Given the description of an element on the screen output the (x, y) to click on. 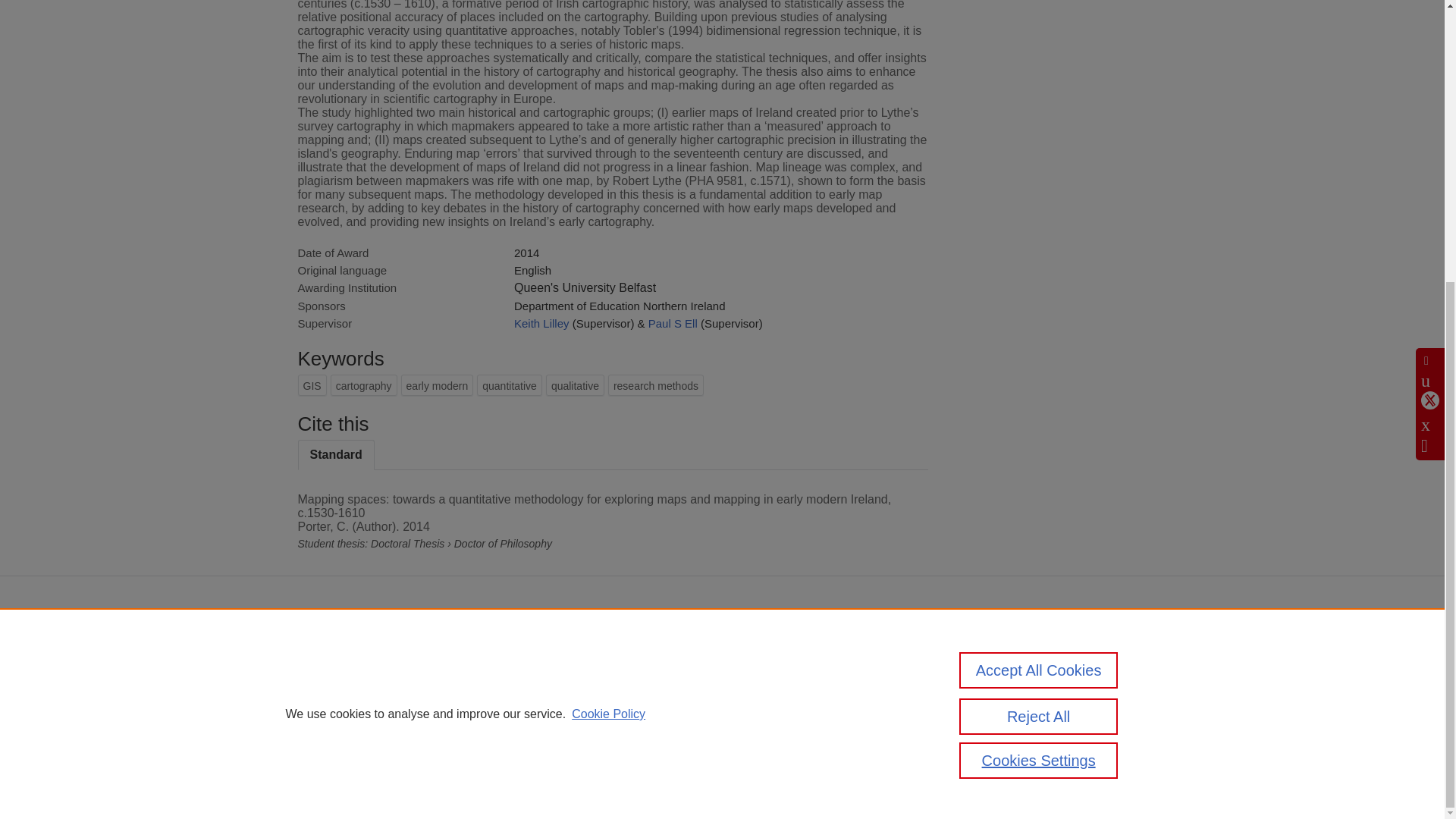
Contact us (1123, 657)
Elsevier B.V. (603, 672)
Scopus (493, 651)
Keith Lilley (541, 323)
Pure (461, 651)
Cookies Settings (433, 747)
Report vulnerability (997, 704)
Cookies Settings (1038, 338)
use of cookies (642, 721)
About web accessibility (1006, 683)
